Given the description of an element on the screen output the (x, y) to click on. 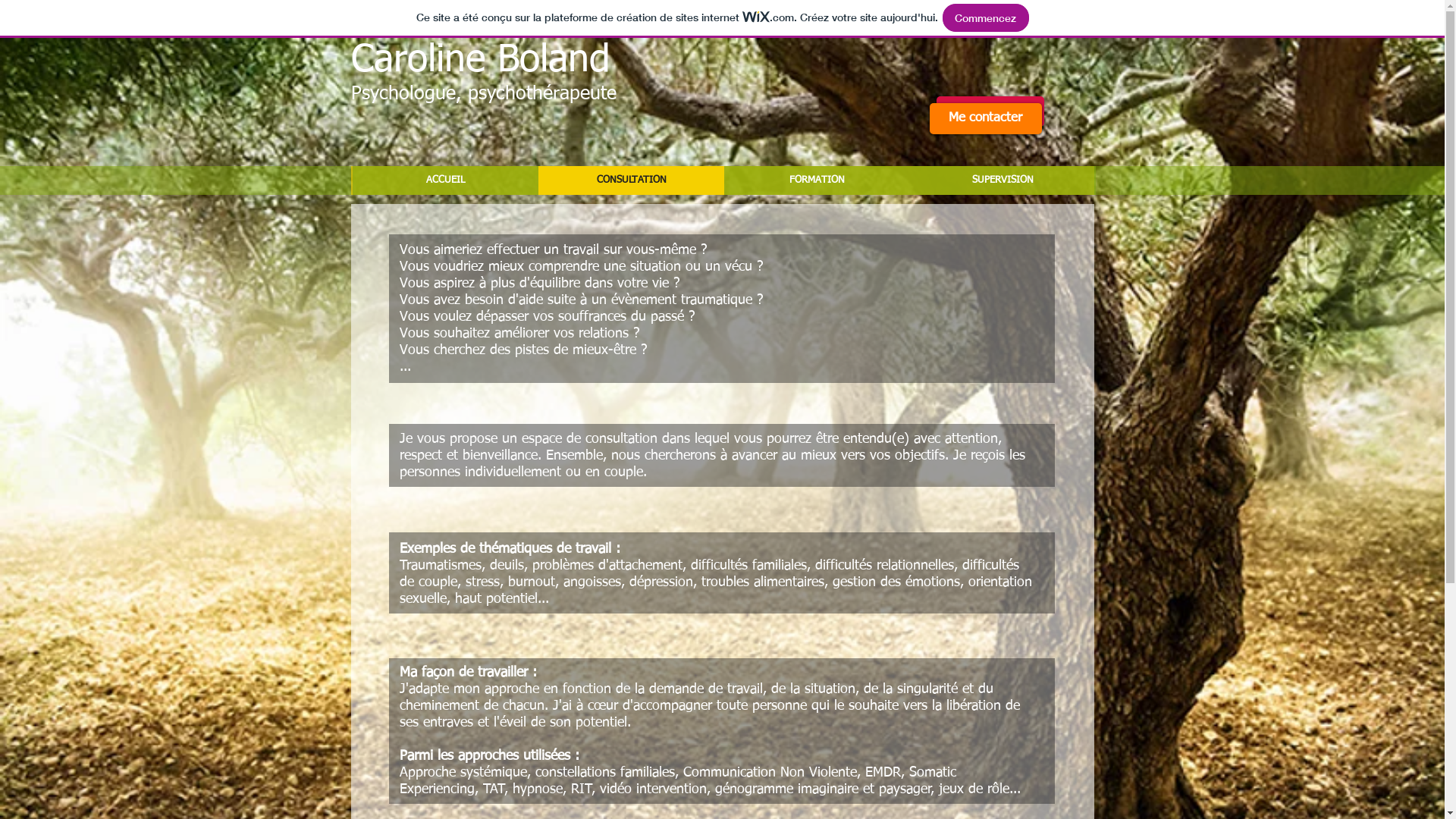
Me contacter Element type: text (985, 118)
FORMATION Element type: text (816, 180)
ACCUEIL Element type: text (444, 180)
CONSULTATION Element type: text (631, 180)
Me contacter Element type: text (989, 111)
SUPERVISION Element type: text (1002, 180)
